Given the description of an element on the screen output the (x, y) to click on. 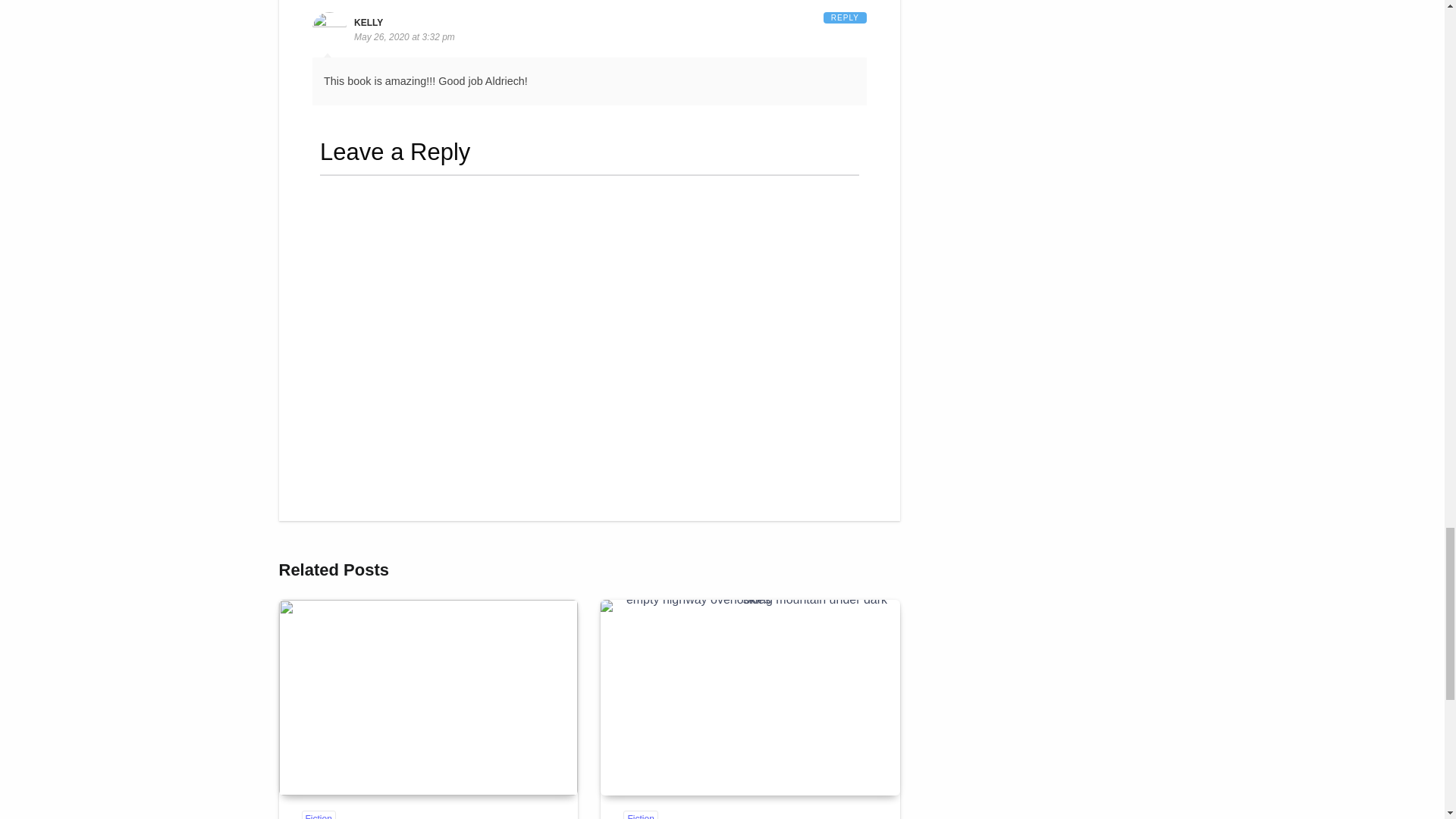
Fiction (640, 814)
A Bump in the Road (749, 697)
REPLY (845, 17)
May 26, 2020 at 3:32 pm (403, 36)
Fiction (318, 814)
